Given the description of an element on the screen output the (x, y) to click on. 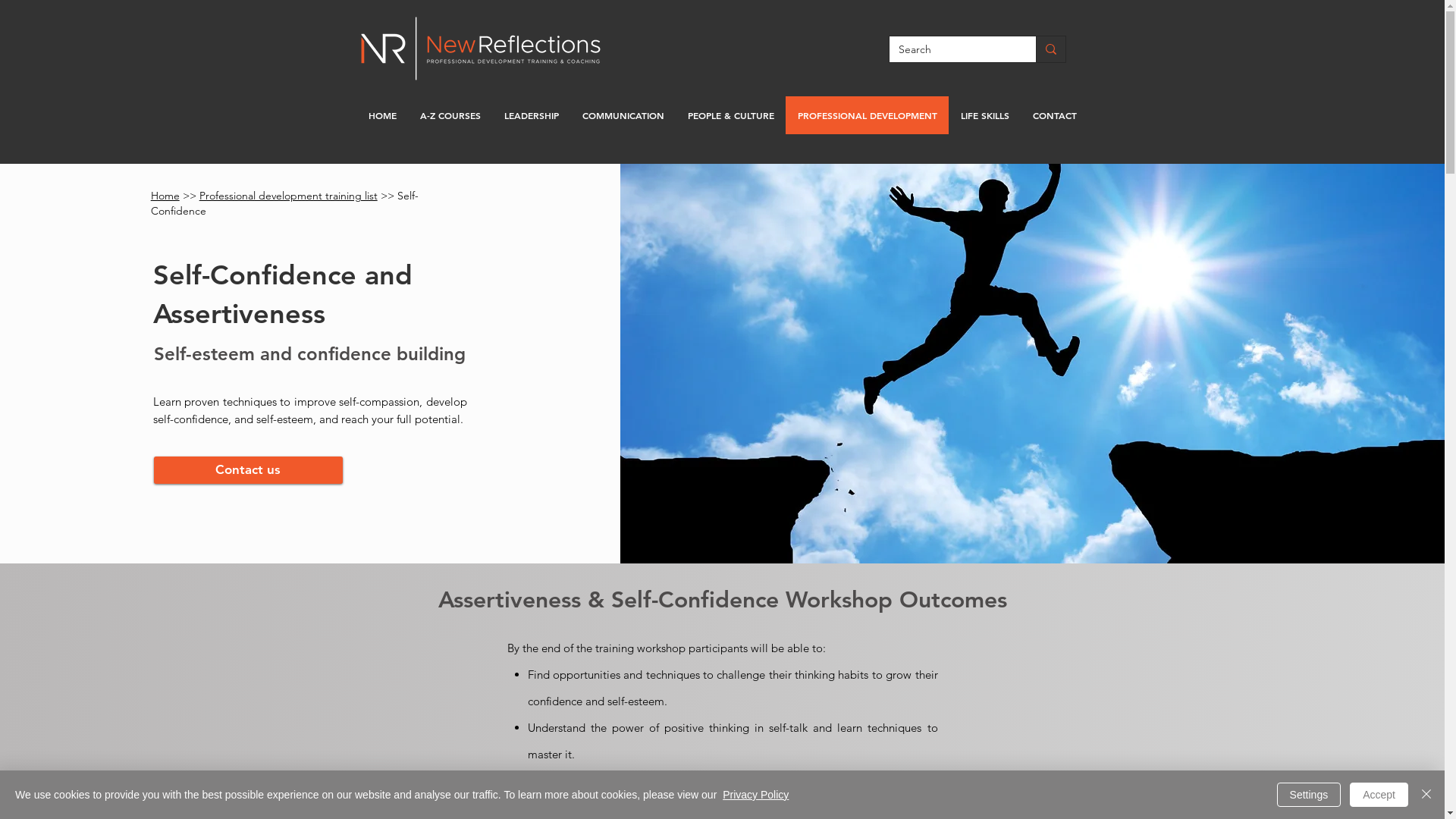
LIFE SKILLS Element type: text (984, 115)
Contact us Element type: text (247, 469)
Settings Element type: text (1309, 794)
LEADERSHIP Element type: text (531, 115)
PROFESSIONAL DEVELOPMENT Element type: text (866, 115)
Home Element type: text (164, 195)
Accept Element type: text (1378, 794)
CONTACT Element type: text (1054, 115)
PEOPLE & CULTURE Element type: text (730, 115)
Privacy Policy Element type: text (755, 794)
A-Z COURSES Element type: text (449, 115)
HOME Element type: text (381, 115)
Professional development training list Element type: text (288, 195)
COMMUNICATION Element type: text (622, 115)
